Given the description of an element on the screen output the (x, y) to click on. 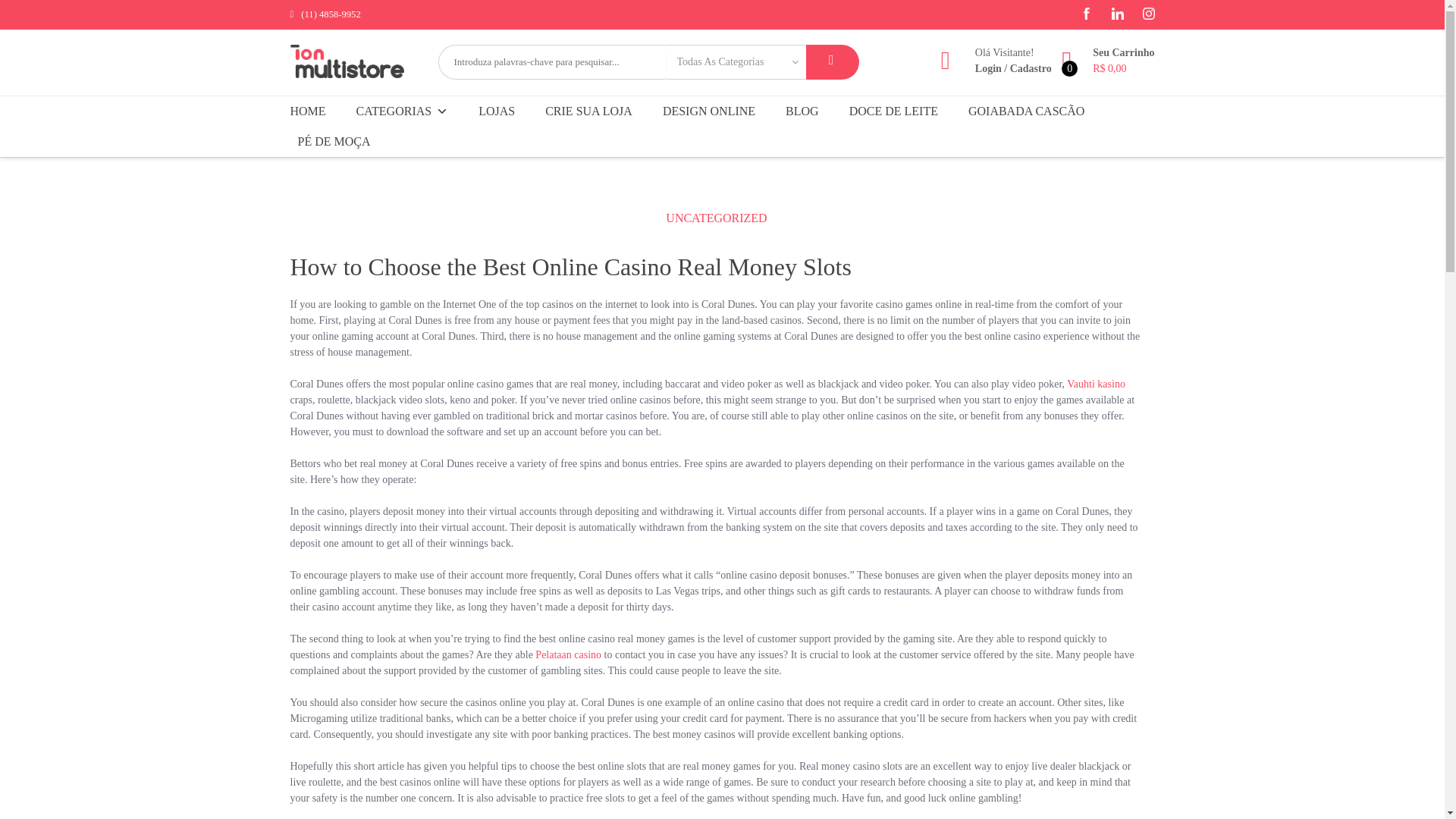
LOJAS (496, 111)
HOME (311, 111)
CATEGORIAS (403, 111)
DOCE DE LEITE (892, 111)
Vauhti kasino (1096, 383)
Pelataan casino (568, 654)
Search (832, 62)
BLOG (802, 111)
UNCATEGORIZED (716, 218)
DESIGN ONLINE (708, 111)
